Given the description of an element on the screen output the (x, y) to click on. 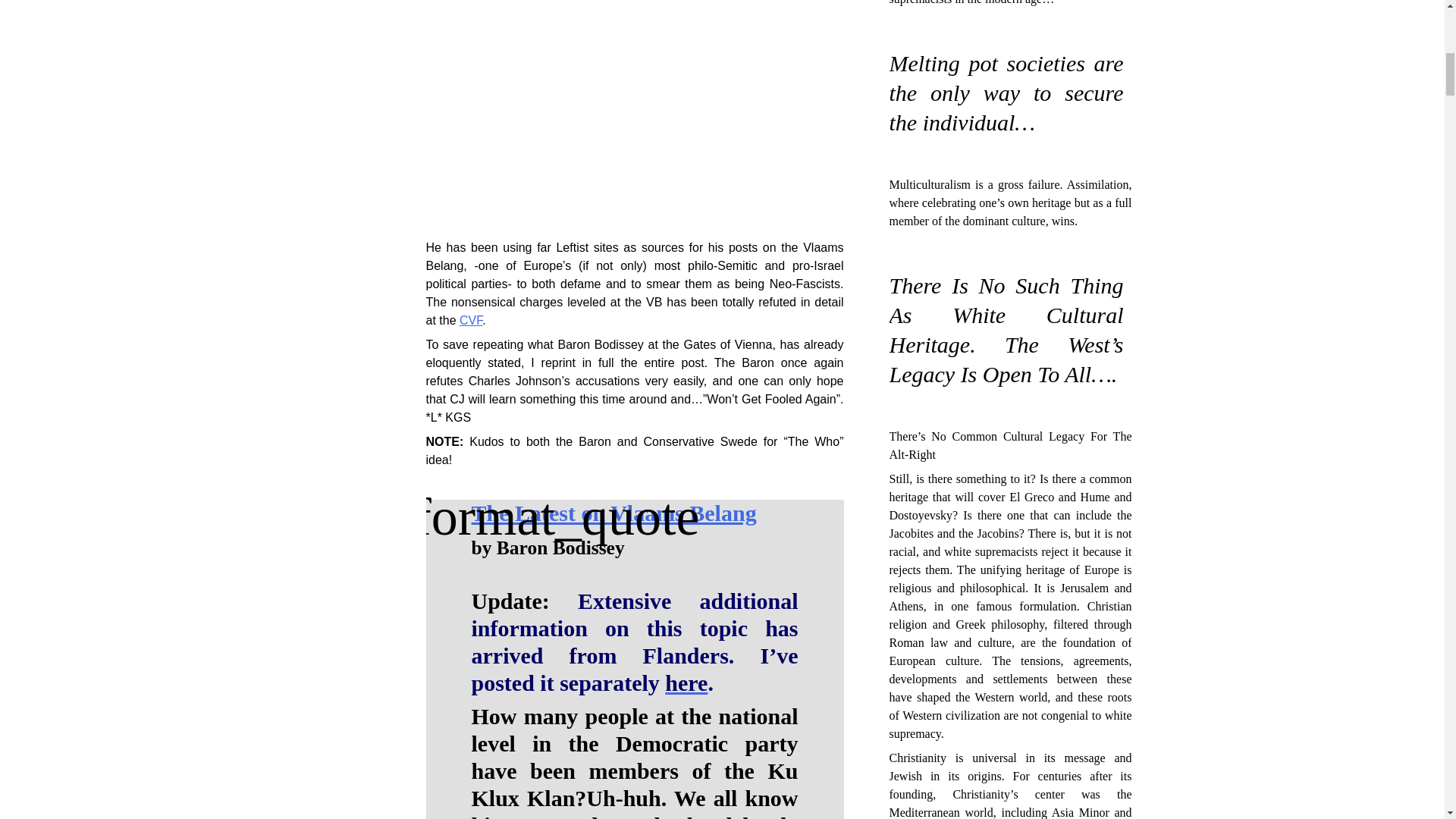
CVF (470, 319)
here (686, 682)
The Latest on Vlaams Belang (614, 512)
